Given the description of an element on the screen output the (x, y) to click on. 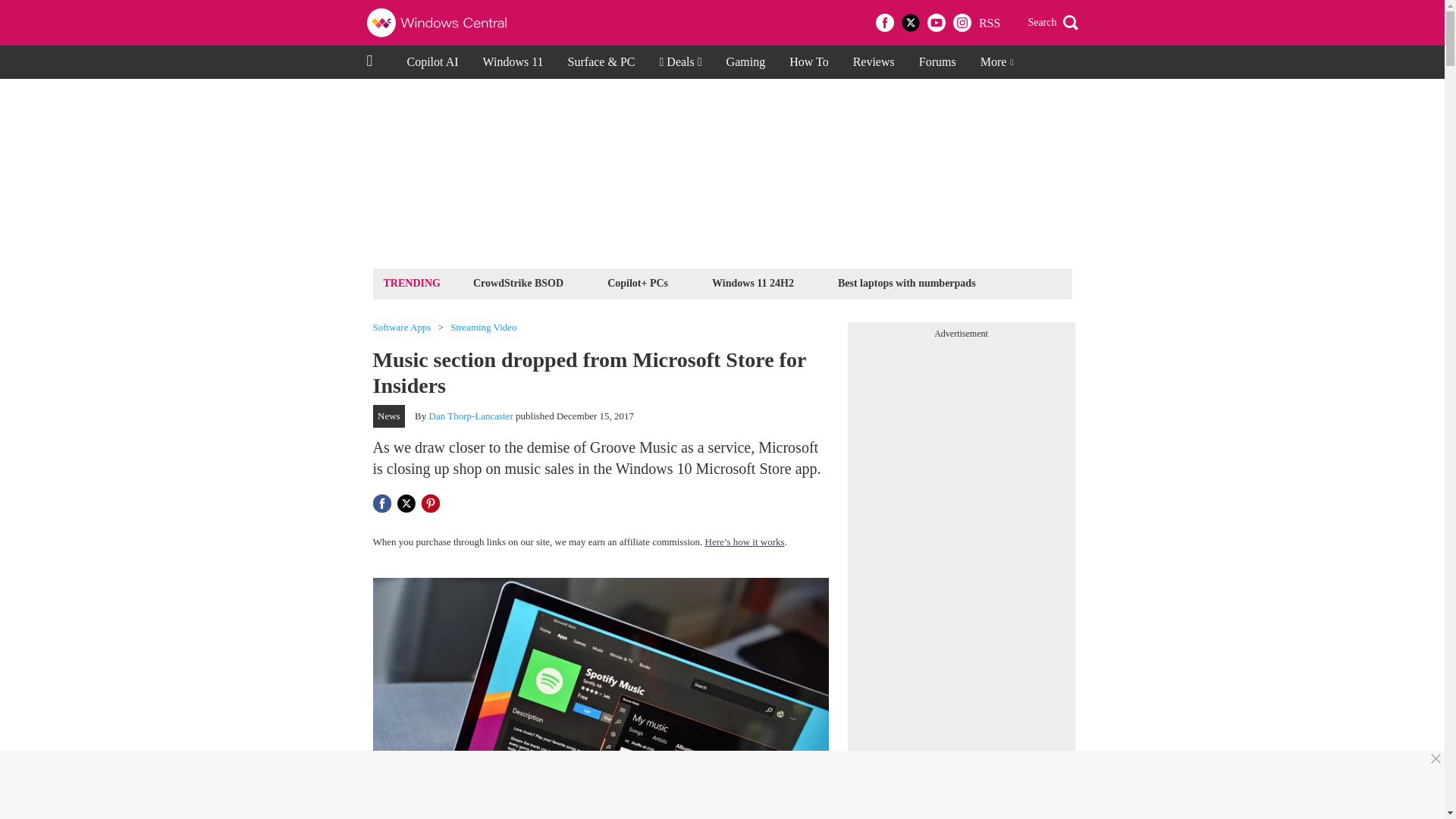
Dan Thorp-Lancaster (471, 415)
Streaming Video (482, 327)
Windows 11 (513, 61)
How To (808, 61)
Best laptops with numberpads (906, 282)
Reviews (874, 61)
Software Apps (401, 327)
News (389, 415)
Copilot AI (432, 61)
RSS (989, 22)
Gaming (745, 61)
Windows 11 24H2 (752, 282)
